Given the description of an element on the screen output the (x, y) to click on. 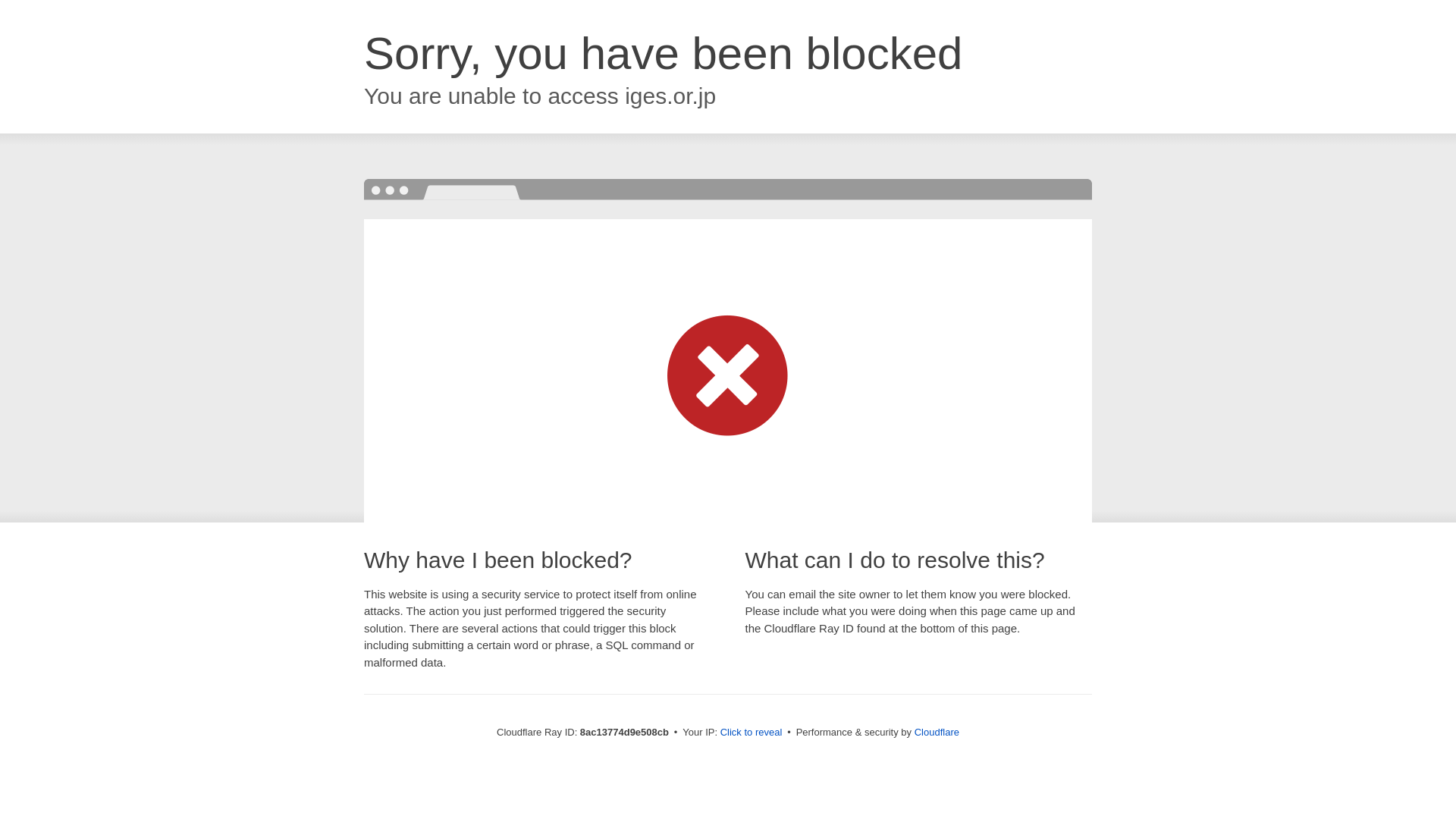
Cloudflare (936, 731)
Click to reveal (751, 732)
